Given the description of an element on the screen output the (x, y) to click on. 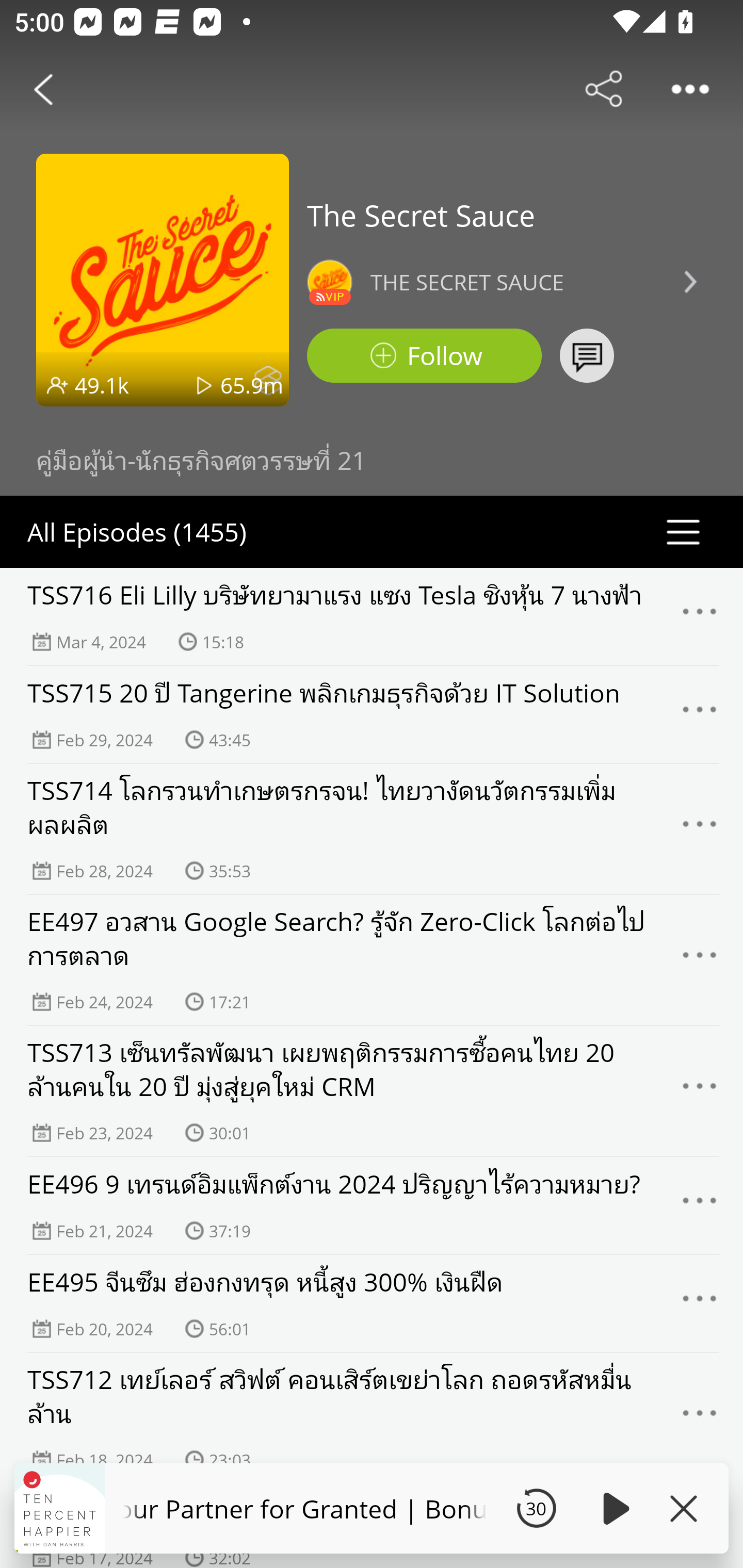
Back (43, 88)
Podbean Follow (423, 355)
49.1k (102, 384)
Menu (699, 616)
Menu (699, 714)
Menu (699, 829)
Menu (699, 960)
Menu (699, 1091)
Menu (699, 1205)
Menu (699, 1303)
Menu (699, 1418)
Play (613, 1507)
30 Seek Backward (536, 1508)
